Given the description of an element on the screen output the (x, y) to click on. 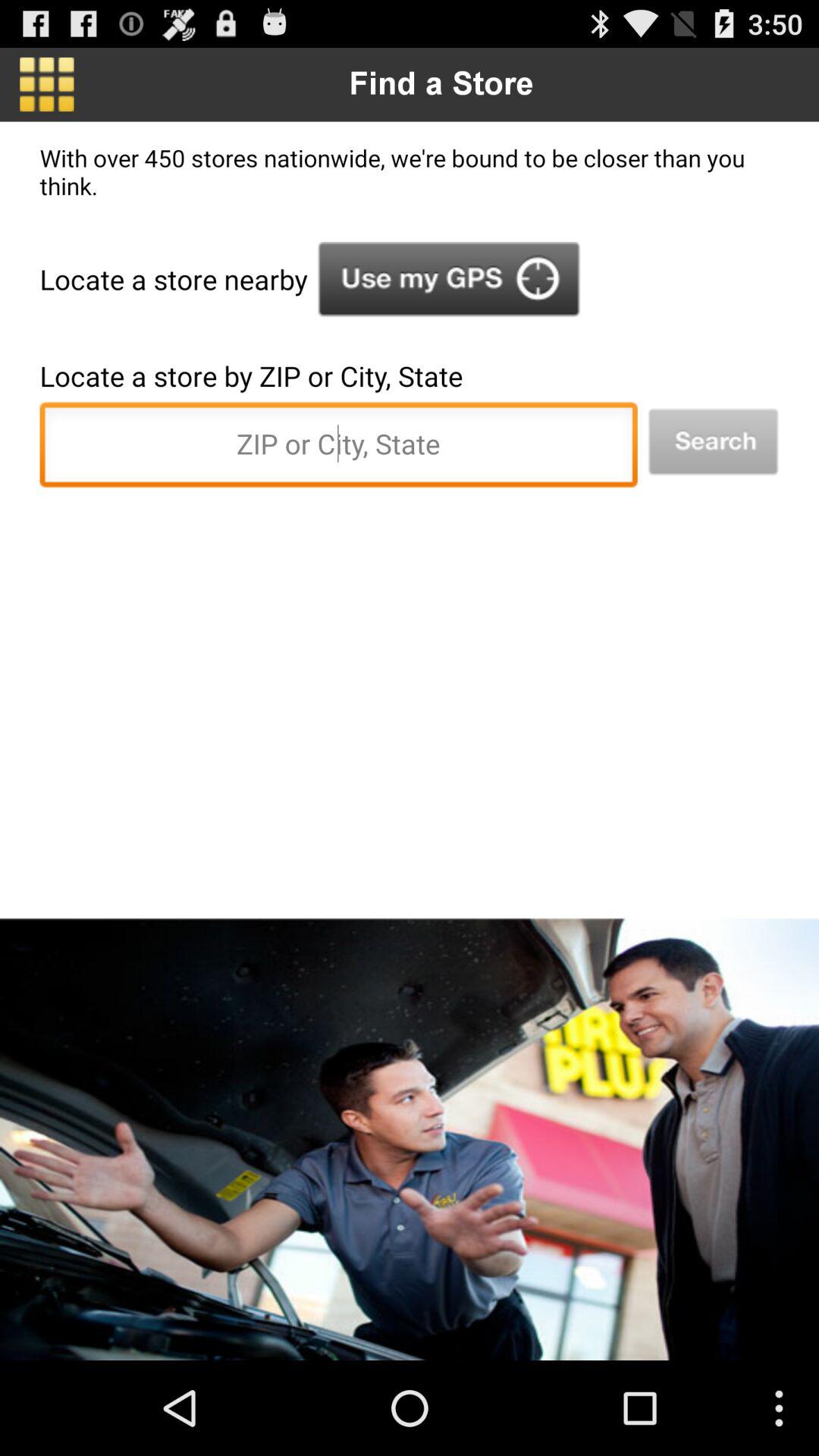
additional menu options (46, 84)
